Given the description of an element on the screen output the (x, y) to click on. 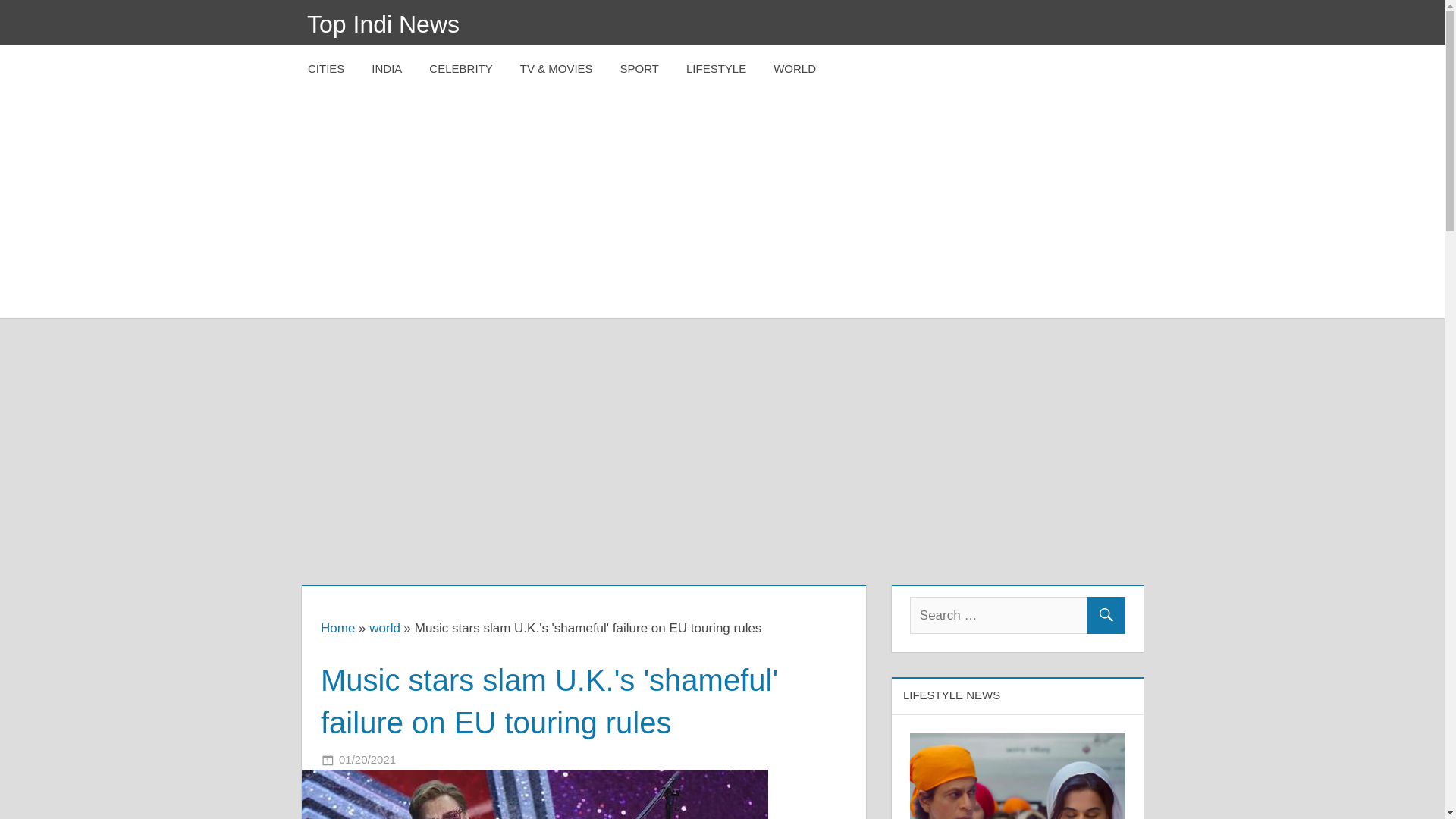
Dunki Drop 5: SRK to romance Taapsee in a brand new song (1017, 743)
WORLD (794, 68)
12:58 (367, 758)
Dunki Drop 5: SRK to romance Taapsee in a brand new song (1017, 776)
CITIES (326, 68)
Top Indi News (383, 23)
INDIA (386, 68)
LIFESTYLE (716, 68)
Home (337, 627)
world (384, 627)
Search for: (1017, 615)
SPORT (639, 68)
CELEBRITY (459, 68)
